Given the description of an element on the screen output the (x, y) to click on. 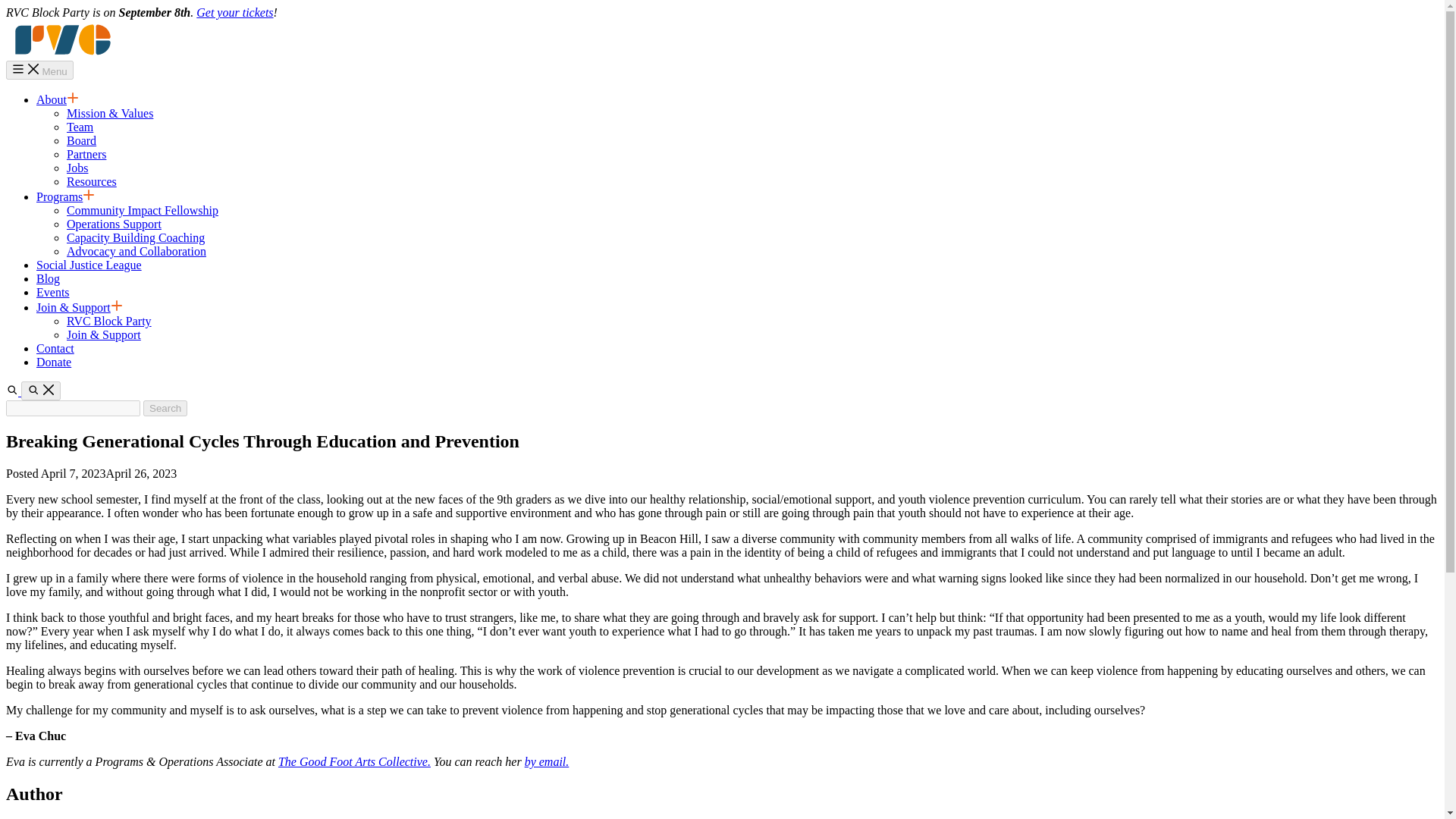
Community Impact Fellowship (142, 210)
Menu (39, 69)
RVC Block Party (108, 320)
The Good Foot Arts Collective. (354, 761)
Partners (86, 154)
Capacity Building Coaching (135, 237)
Operations Support (113, 223)
Board (81, 140)
by email. (546, 761)
Search (41, 390)
Jobs (76, 167)
Advocacy and Collaboration (136, 250)
Social Justice League (88, 264)
RVC Seattle (62, 52)
